Given the description of an element on the screen output the (x, y) to click on. 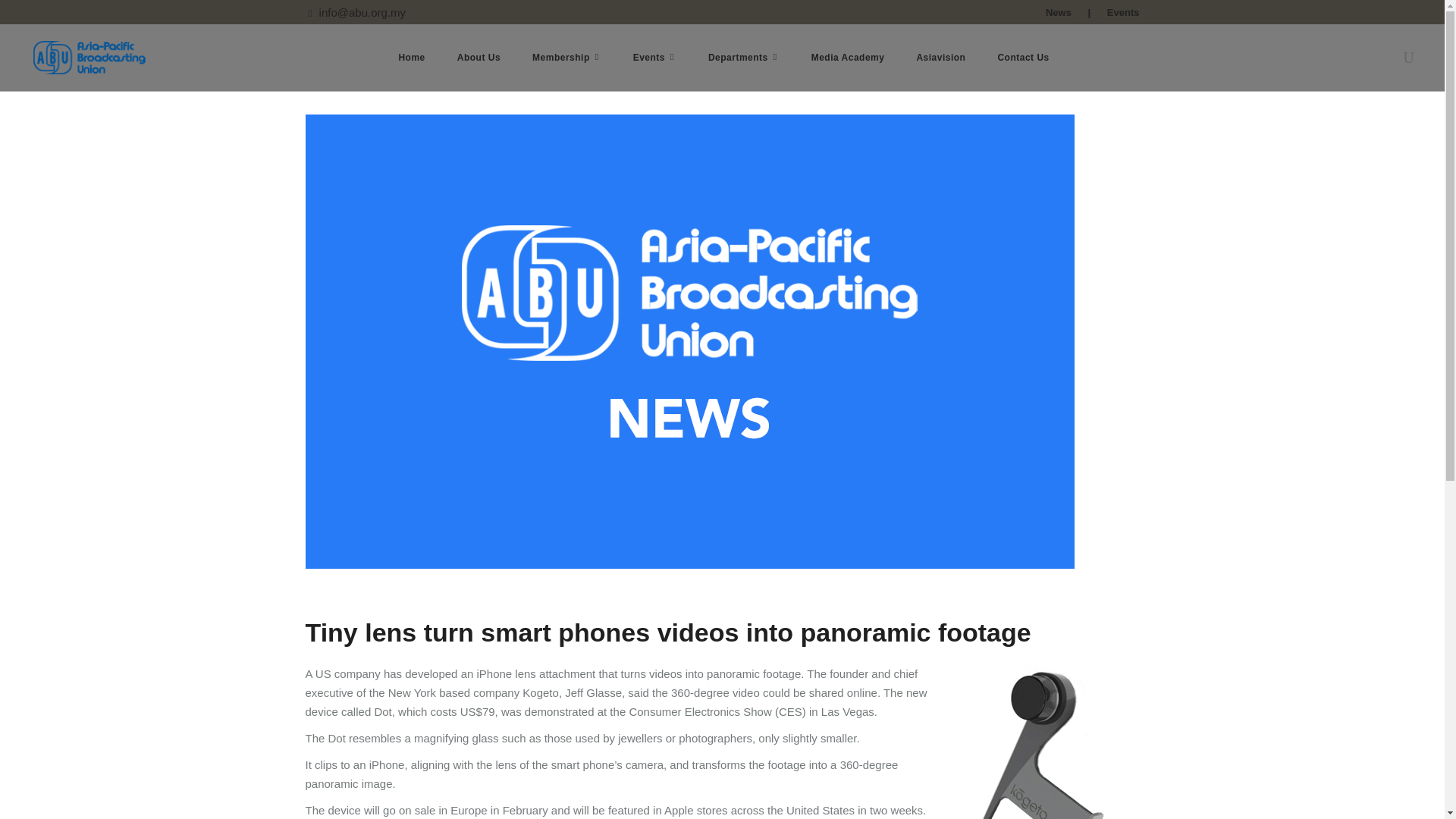
Contact Us (1022, 57)
Events (1123, 12)
Media Academy (847, 57)
U (1072, 426)
Events (655, 57)
Asiavision (940, 57)
Departments (743, 57)
Membership (566, 57)
News (1058, 12)
About Us (478, 57)
